Given the description of an element on the screen output the (x, y) to click on. 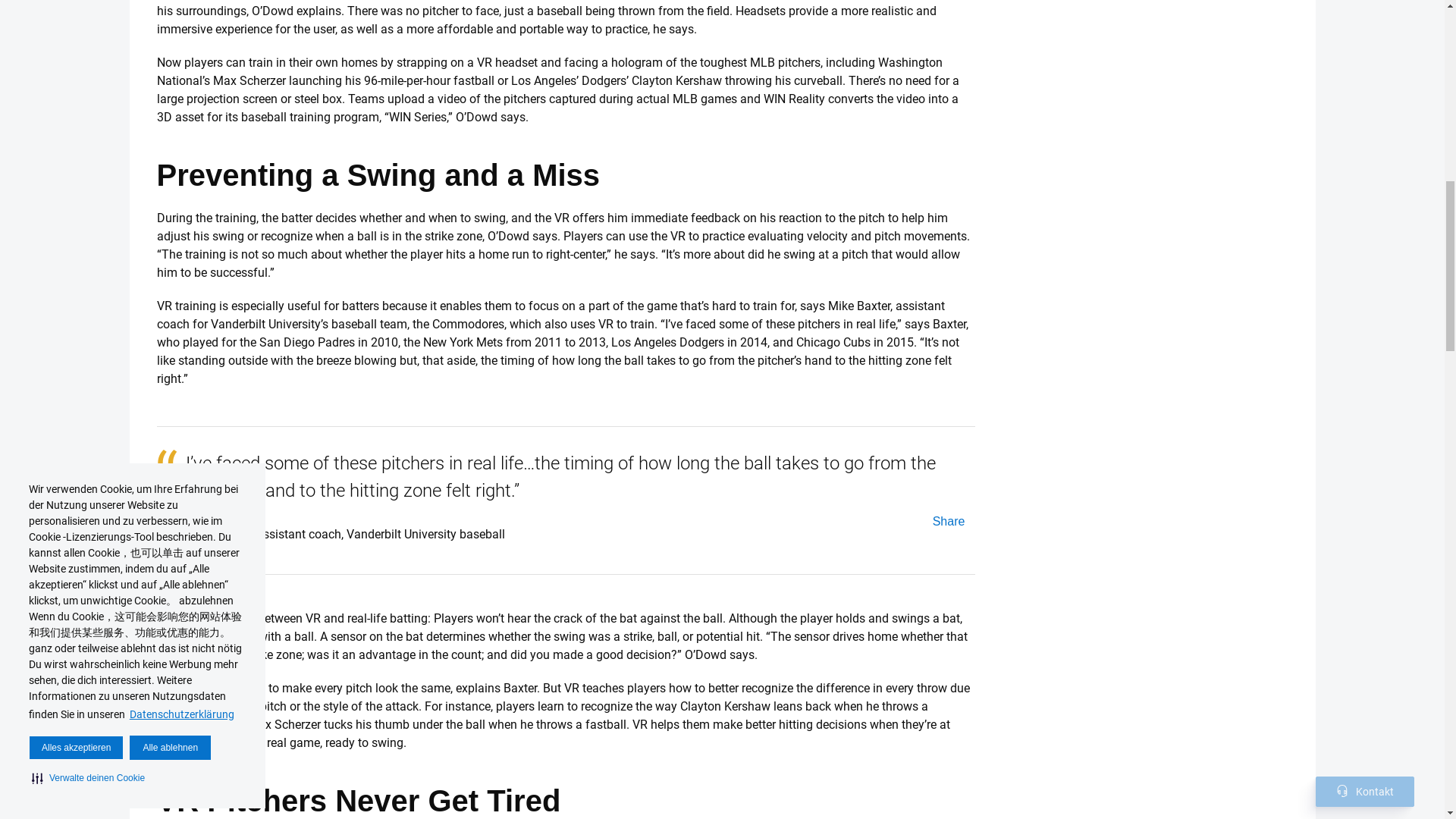
twitter (947, 521)
